Given the description of an element on the screen output the (x, y) to click on. 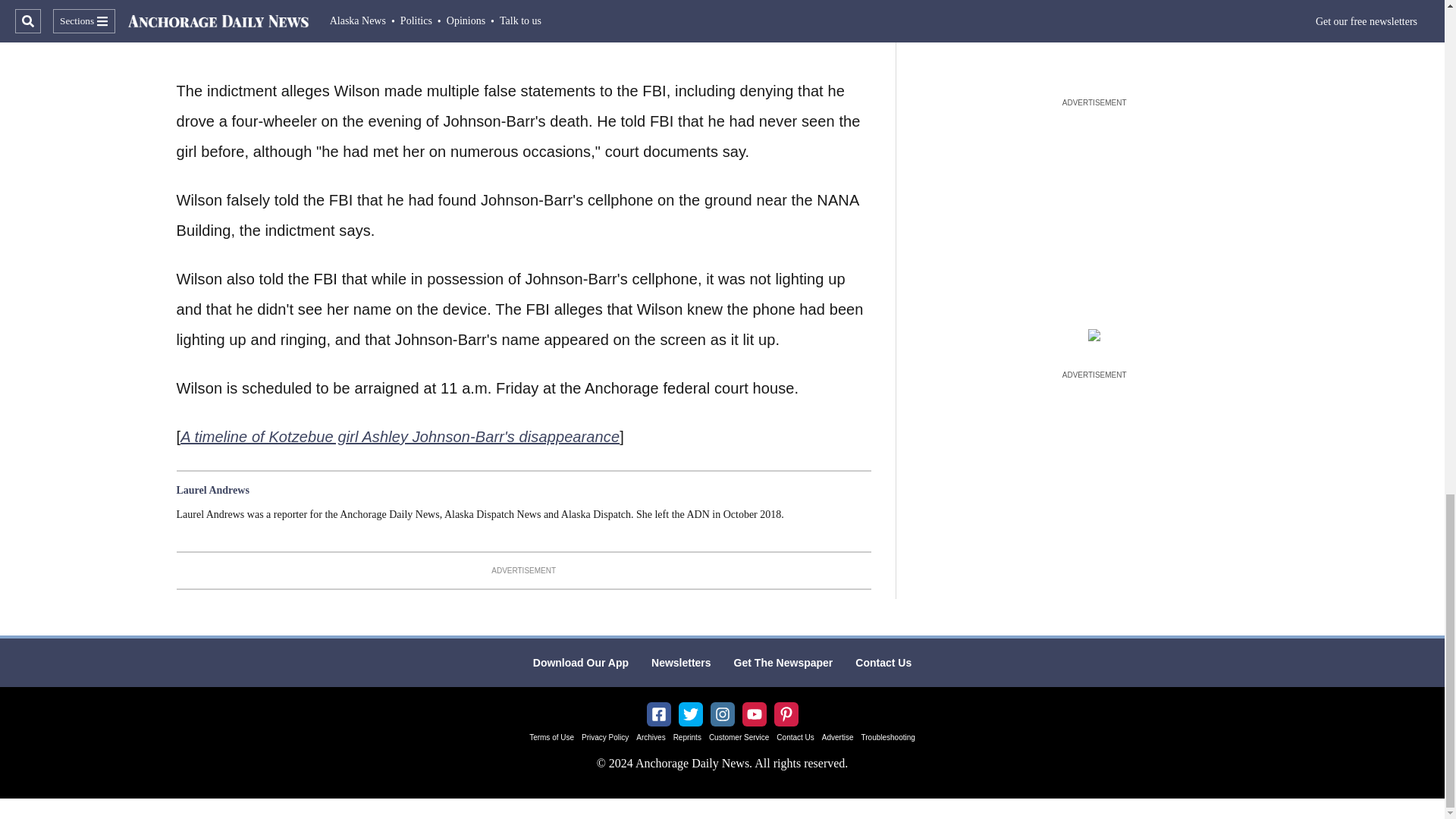
PinterestAnchorage Daily News Pinterest Account (785, 713)
Twitter IconTwitter Account for Anchorage Daily News (689, 713)
YouTube iconAnchorage Daily News YouTube channel (753, 713)
Instagram IconAnchorage Daily News instagram account (721, 713)
Facebook IconAnchorage Daily News Facebook Page (657, 713)
